Given the description of an element on the screen output the (x, y) to click on. 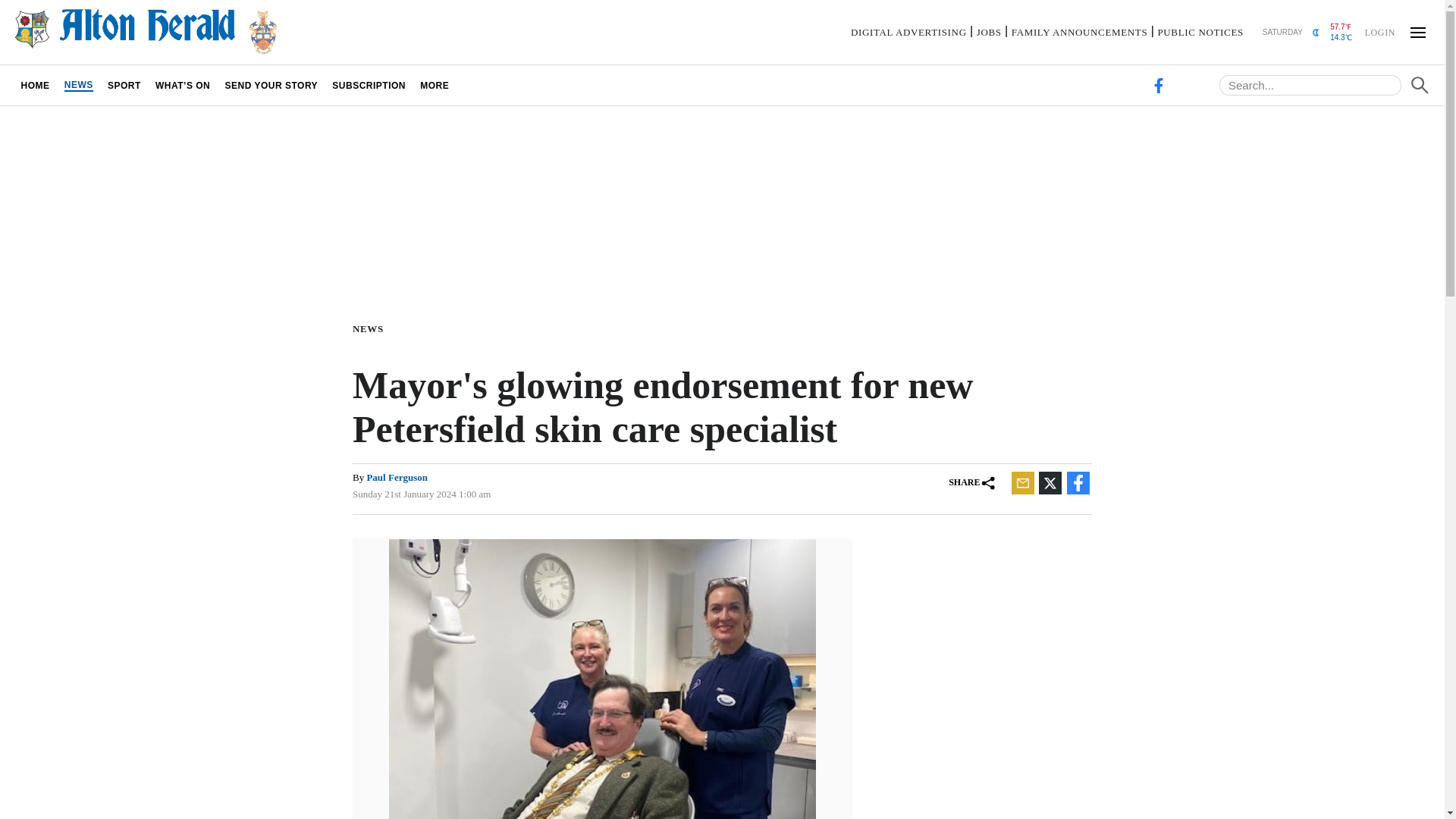
SUBSCRIPTION (368, 85)
NEWS (371, 328)
LOGIN (1379, 31)
NEWS (78, 85)
MORE (435, 85)
SPORT (124, 85)
Paul Ferguson (397, 477)
SEND YOUR STORY (270, 85)
HOME (34, 85)
PUBLIC NOTICES (1200, 32)
